Given the description of an element on the screen output the (x, y) to click on. 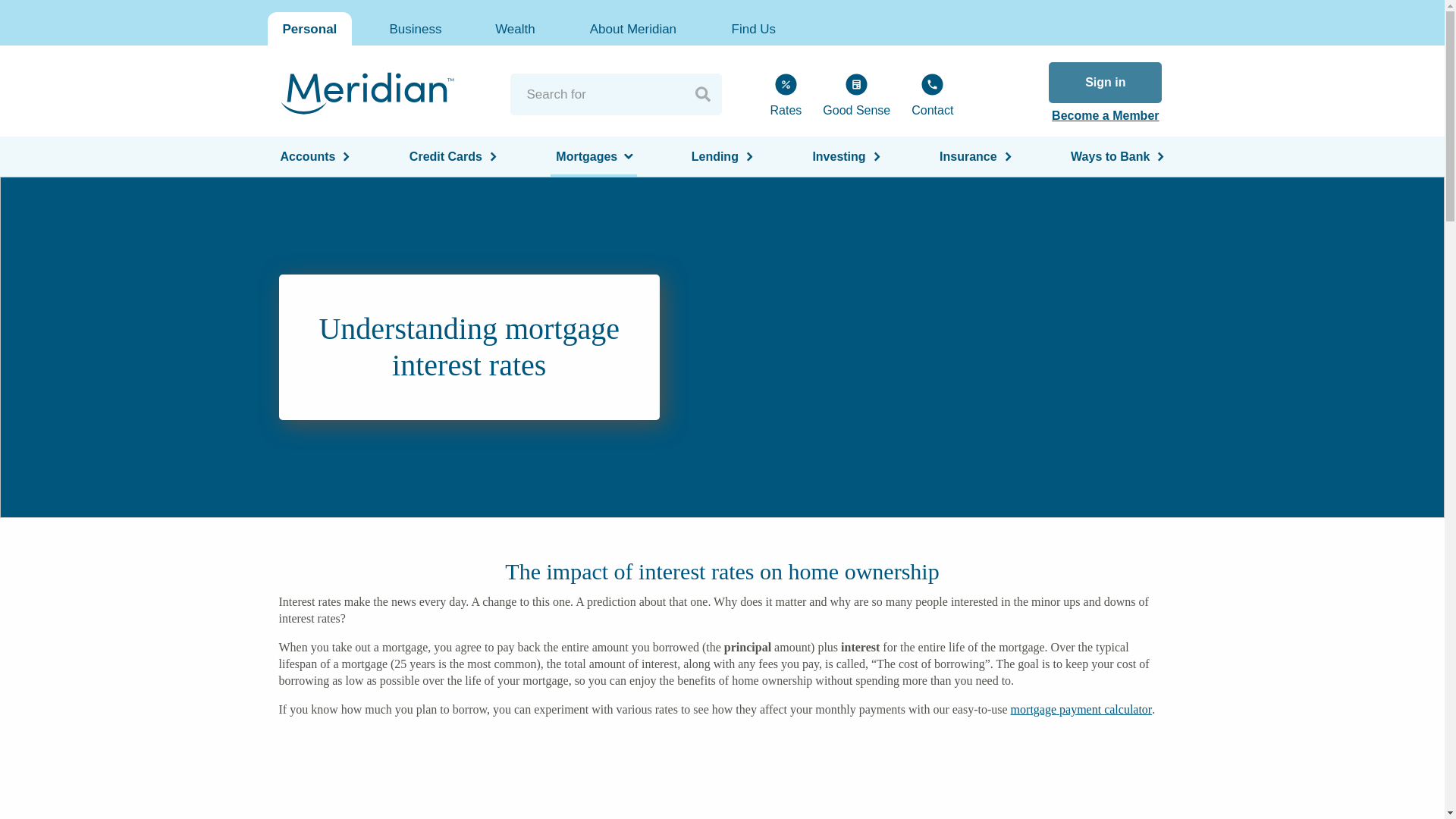
Sign in (1104, 82)
Business (415, 28)
Accounts (314, 156)
Credit Cards (452, 156)
Become a Member (1104, 117)
Good Sense (856, 94)
Find Us (753, 28)
Contact (932, 94)
Wealth (515, 28)
About Meridian (632, 28)
